Given the description of an element on the screen output the (x, y) to click on. 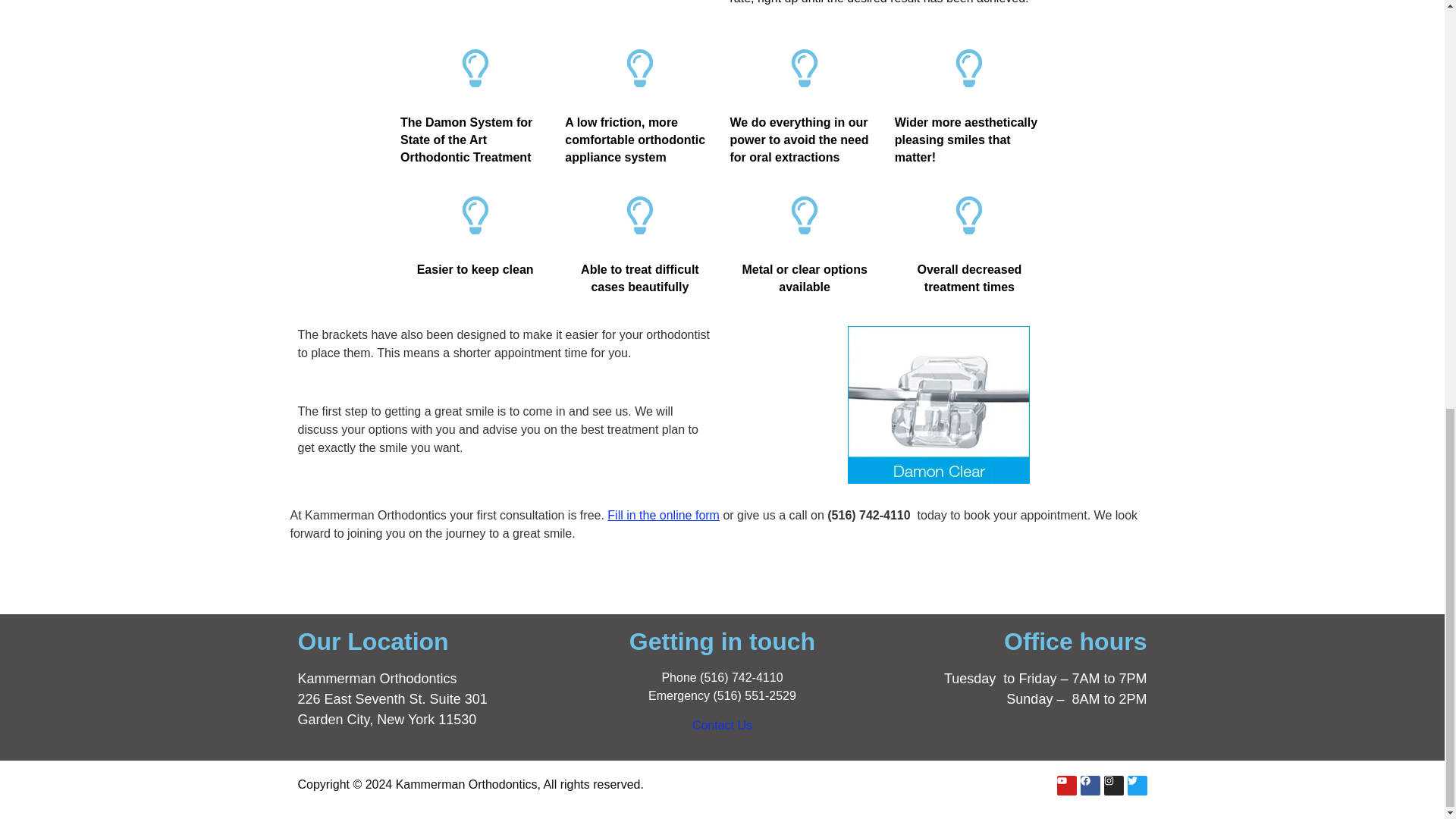
Contact Us (722, 725)
Fill in the online form (663, 514)
